Given the description of an element on the screen output the (x, y) to click on. 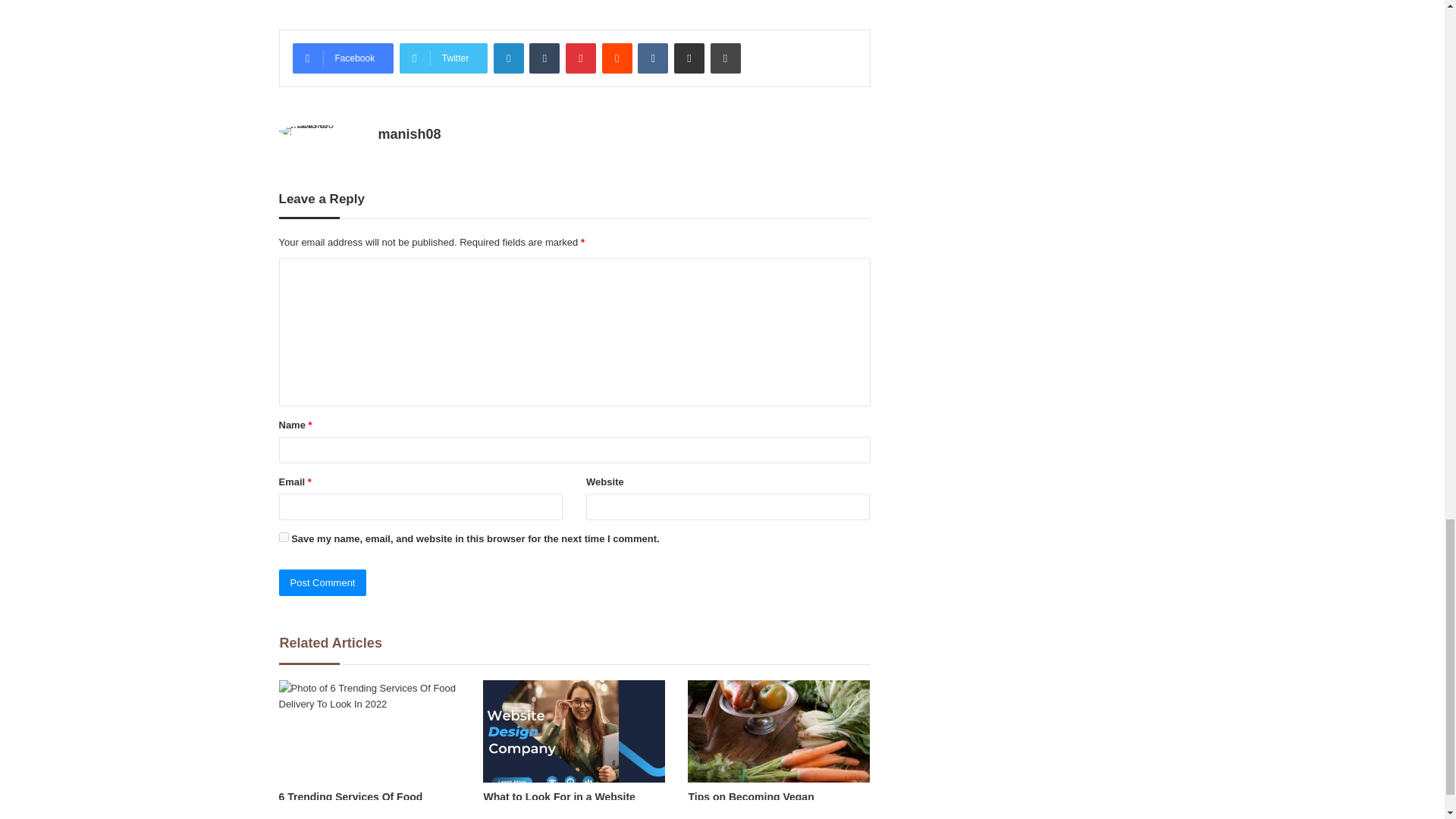
Twitter (442, 58)
Twitter (442, 58)
Post Comment (322, 582)
Facebook (343, 58)
Tumblr (544, 58)
Reddit (616, 58)
Pinterest (580, 58)
yes (283, 537)
LinkedIn (508, 58)
LinkedIn (508, 58)
Facebook (343, 58)
corporate gifts (475, 3)
customised corporate gifts (633, 3)
